Given the description of an element on the screen output the (x, y) to click on. 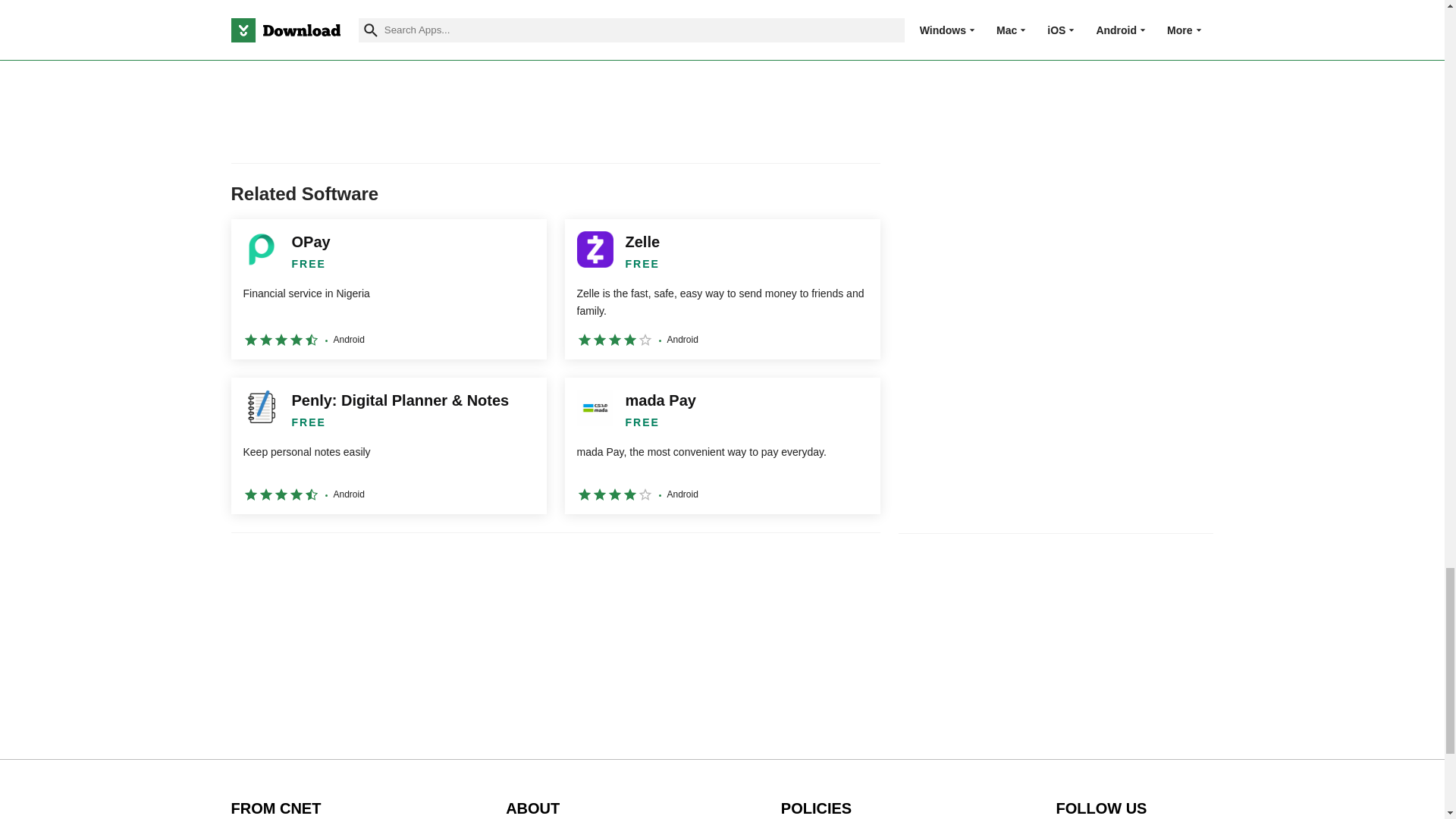
OPay (388, 289)
mada Pay (721, 445)
Zelle (721, 289)
